Given the description of an element on the screen output the (x, y) to click on. 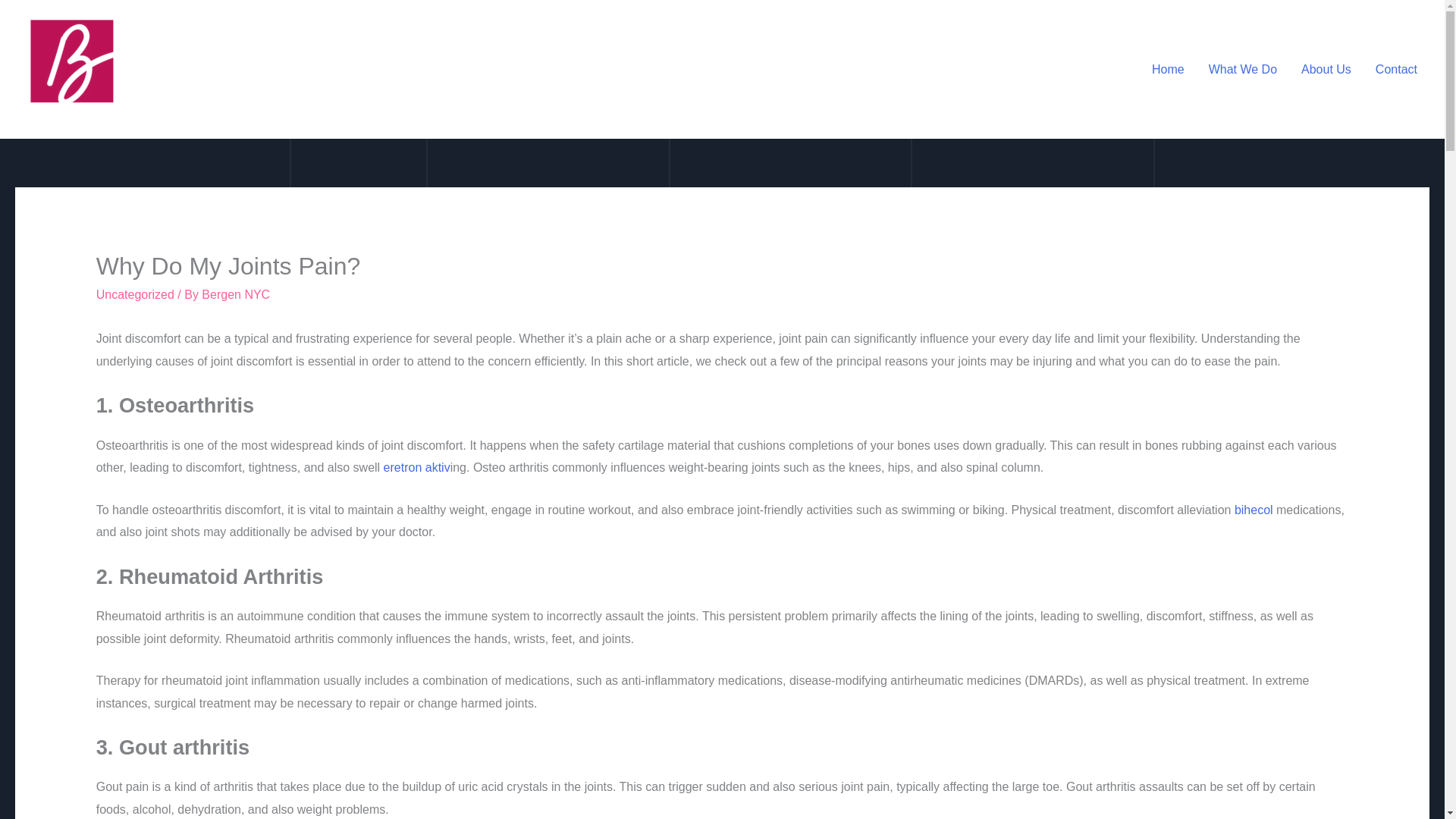
Bergen NYC (235, 294)
Contact (1395, 69)
eretron aktiv (416, 467)
About Us (1325, 69)
What We Do (1242, 69)
bihecol (1253, 509)
Home (1168, 69)
Uncategorized (135, 294)
View all posts by Bergen NYC (235, 294)
